Given the description of an element on the screen output the (x, y) to click on. 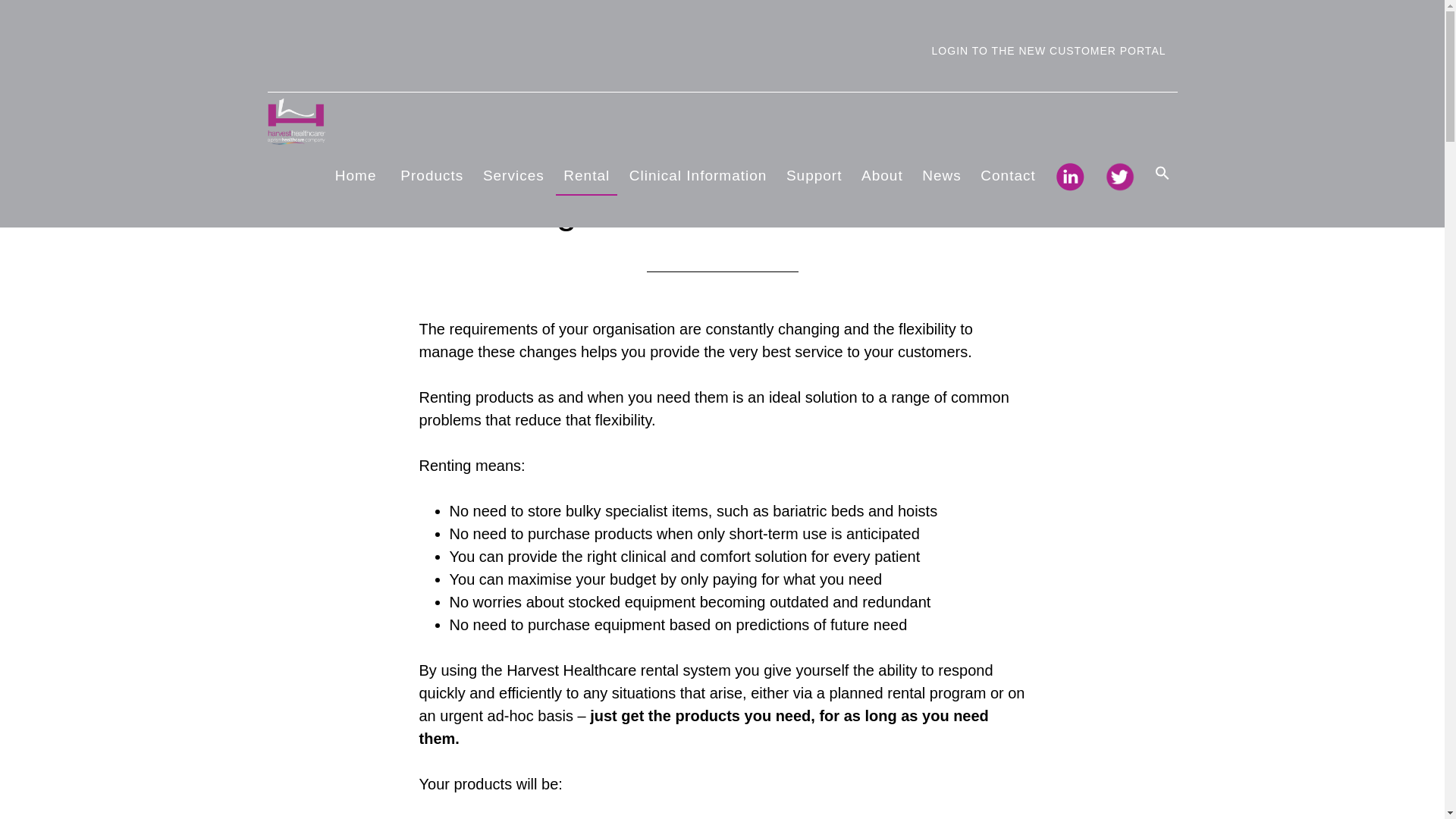
HARVEST HEALTHCARE (403, 120)
Home (355, 176)
 Products (429, 176)
Healthcare Product Maintenance (513, 176)
LOGIN TO THE NEW CUSTOMER PORTAL (1048, 51)
